Given the description of an element on the screen output the (x, y) to click on. 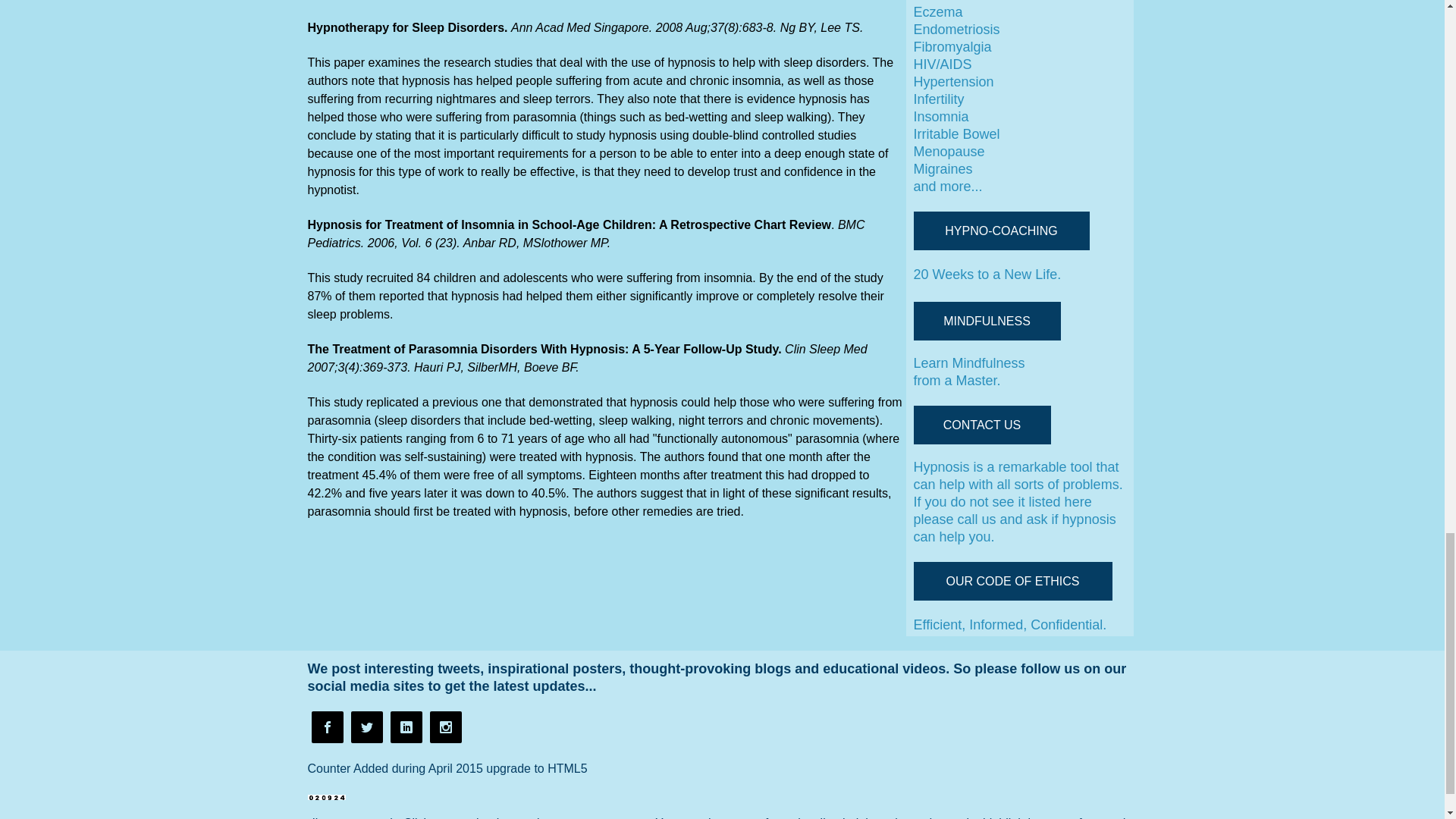
CONTACT US (980, 424)
OUR CODE OF ETHICS (1012, 580)
MINDFULNESS (985, 321)
HYPNO-COACHING (1000, 230)
